Given the description of an element on the screen output the (x, y) to click on. 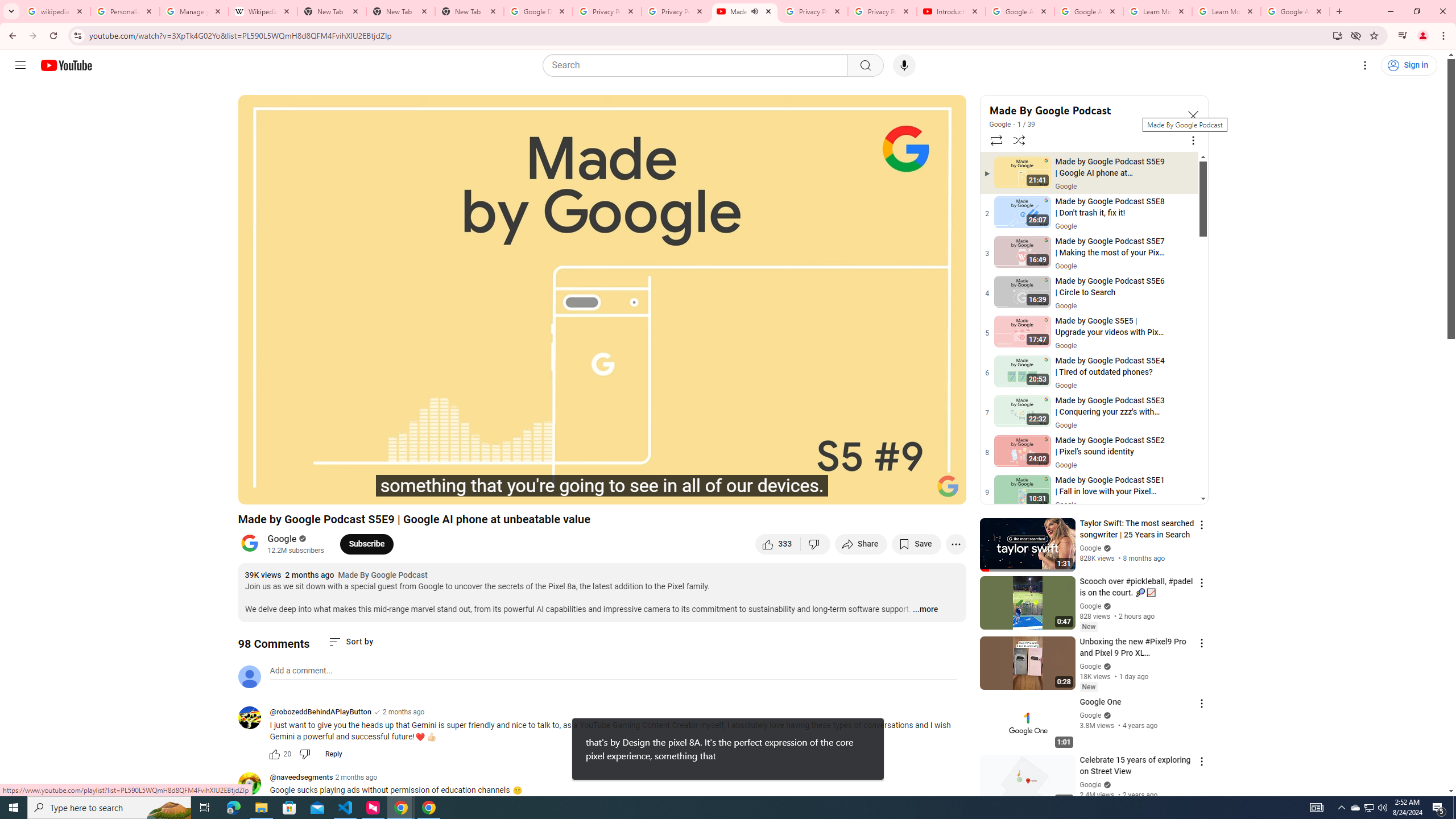
Introduction | Google Privacy Policy - YouTube (950, 11)
Google Account (1295, 11)
Reply (333, 754)
Subtitles/closed captions unavailable (836, 490)
Google Drive: Sign-in (538, 11)
